Given the description of an element on the screen output the (x, y) to click on. 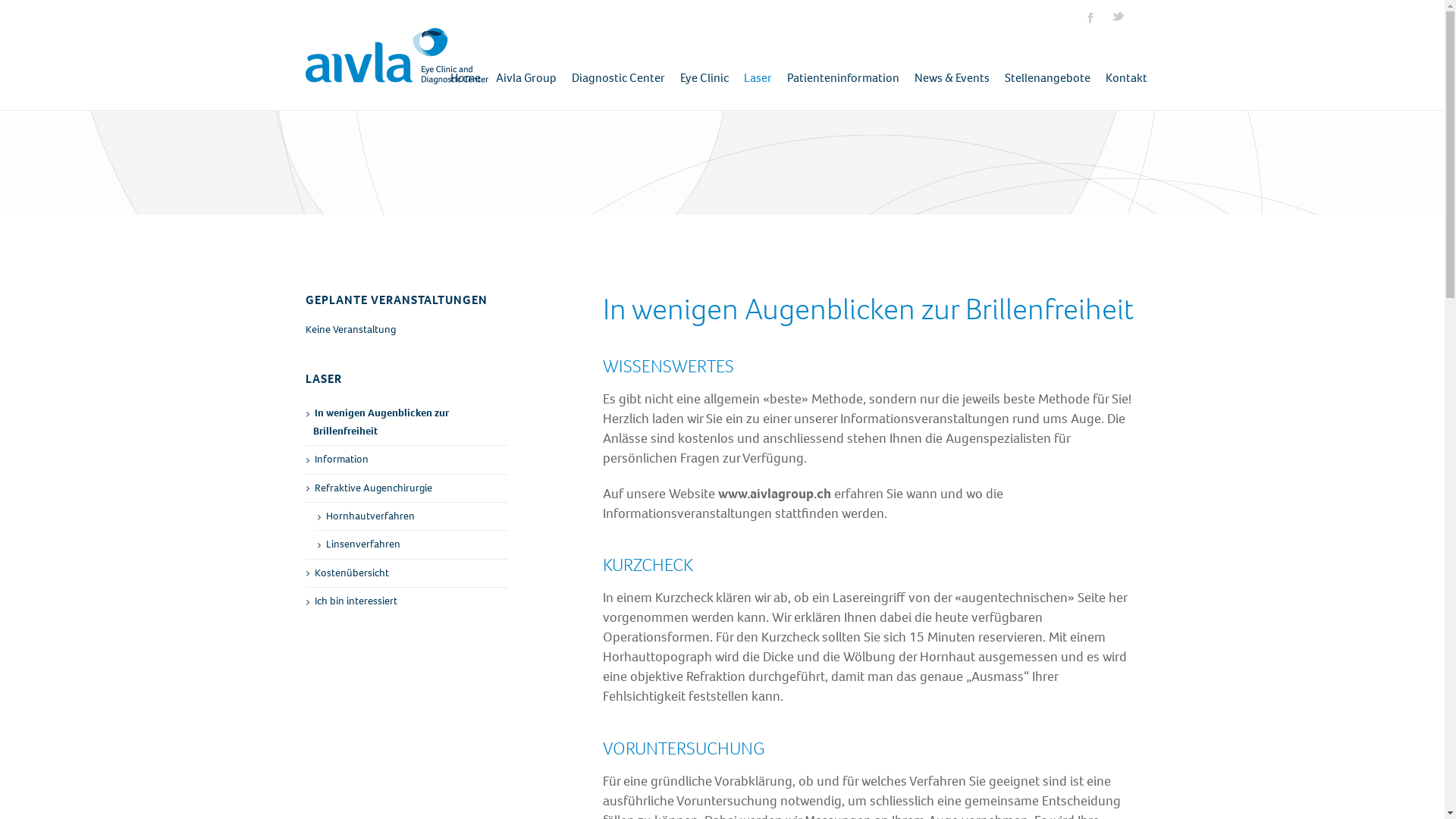
Home Element type: text (465, 67)
Refraktive Augenchirurgie Element type: text (406, 488)
www.aivlagroup.ch Element type: text (774, 493)
Stellenangebote Element type: text (1046, 67)
Hornhautverfahren Element type: text (412, 516)
Patienteninformation Element type: text (842, 67)
facebook Element type: hover (1089, 16)
Kontakt Element type: text (1126, 67)
Linsenverfahren Element type: text (412, 544)
Ich bin interessiert Element type: text (406, 601)
Information Element type: text (406, 459)
Laser Element type: text (756, 67)
Eye Clinic Element type: text (703, 67)
Diagnostic Center Element type: text (618, 67)
twitter Element type: hover (1116, 16)
In wenigen Augenblicken zur Brillenfreiheit Element type: text (406, 422)
Aivla Group Element type: text (526, 67)
News & Events Element type: text (951, 67)
